Given the description of an element on the screen output the (x, y) to click on. 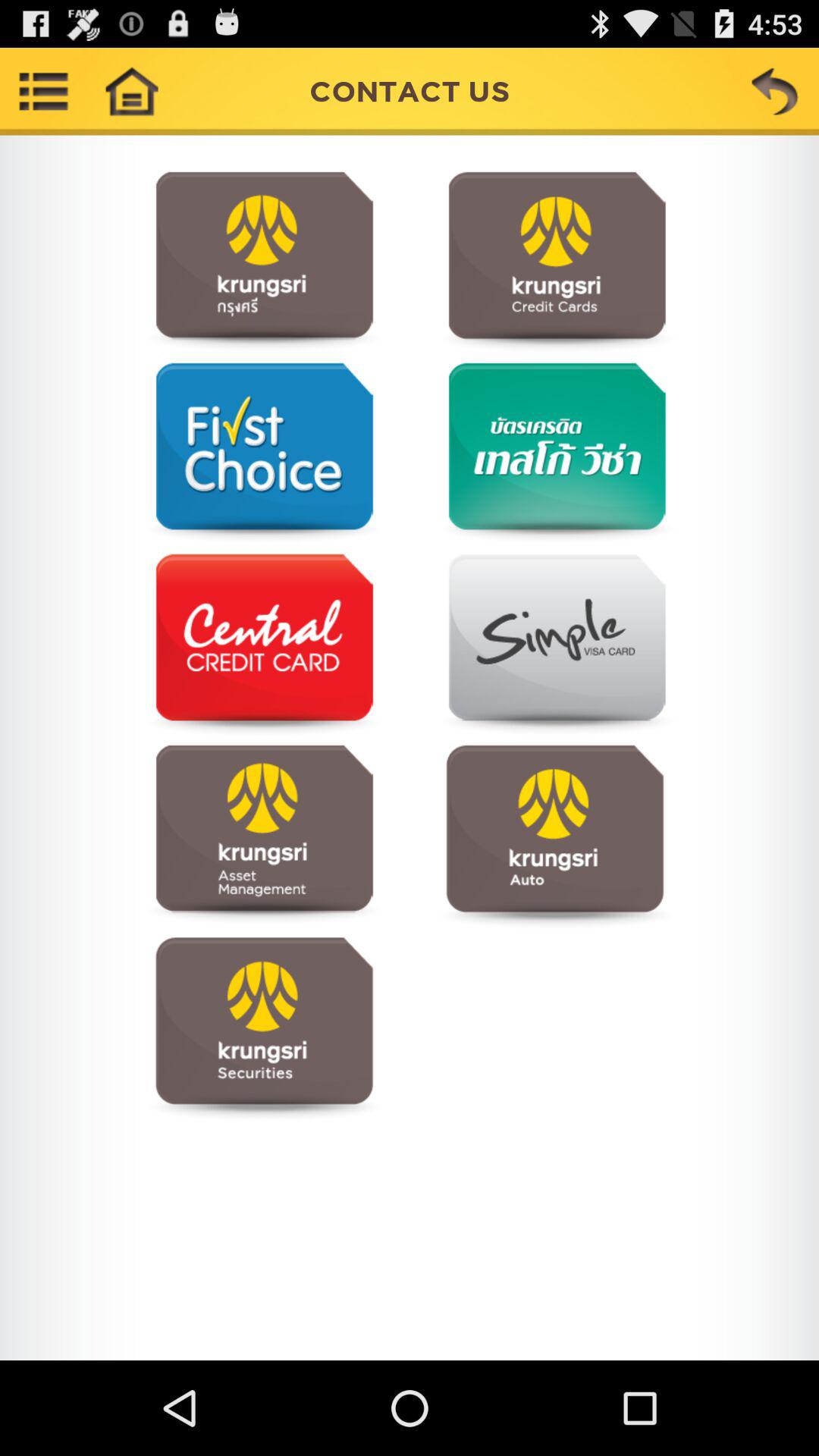
get contact (263, 835)
